Given the description of an element on the screen output the (x, y) to click on. 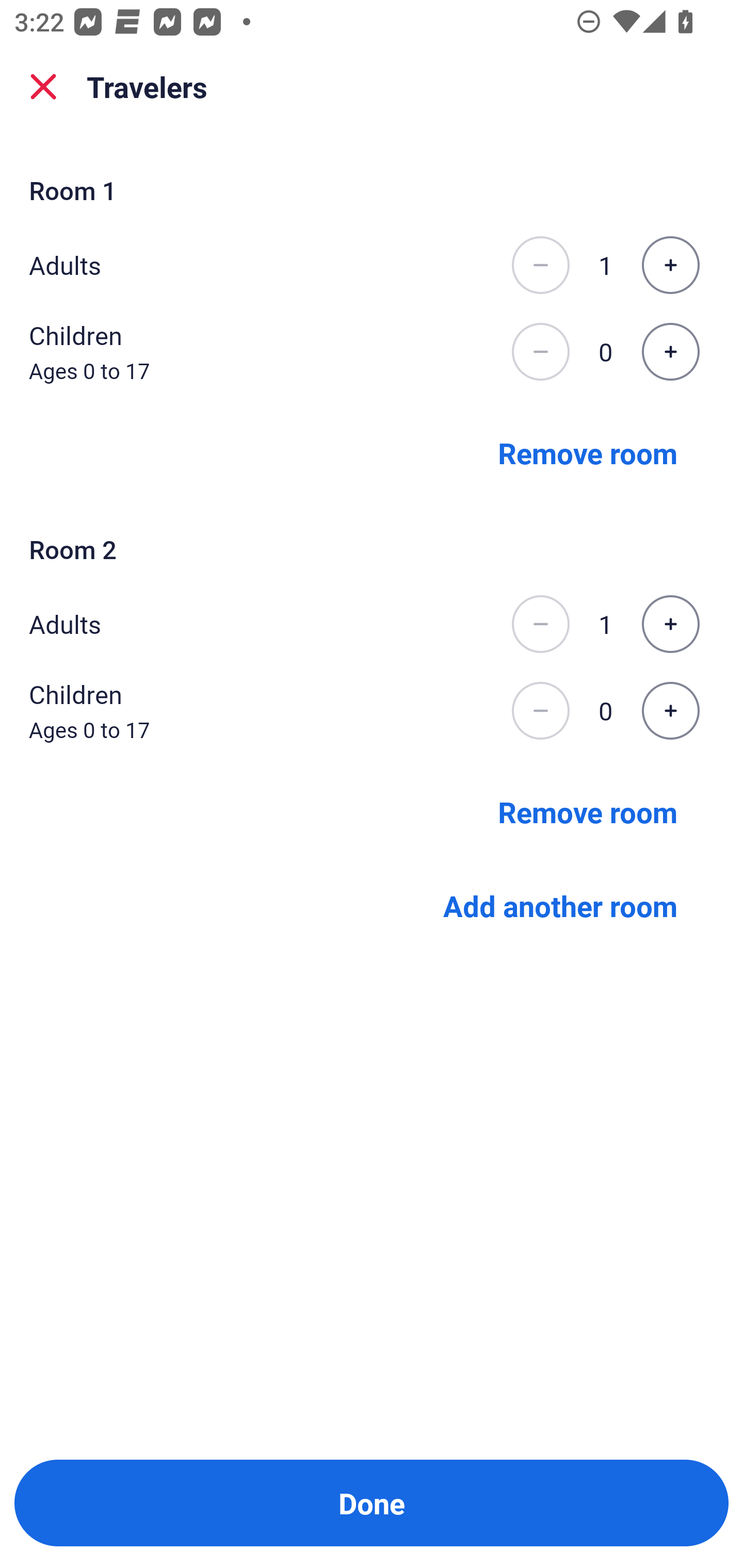
close (43, 86)
Decrease the number of adults (540, 264)
Increase the number of adults (670, 264)
Decrease the number of children (540, 351)
Increase the number of children (670, 351)
Remove room (588, 452)
Decrease the number of adults (540, 623)
Increase the number of adults (670, 623)
Decrease the number of children (540, 710)
Increase the number of children (670, 710)
Remove room (588, 811)
Add another room (560, 905)
Done (371, 1502)
